Given the description of an element on the screen output the (x, y) to click on. 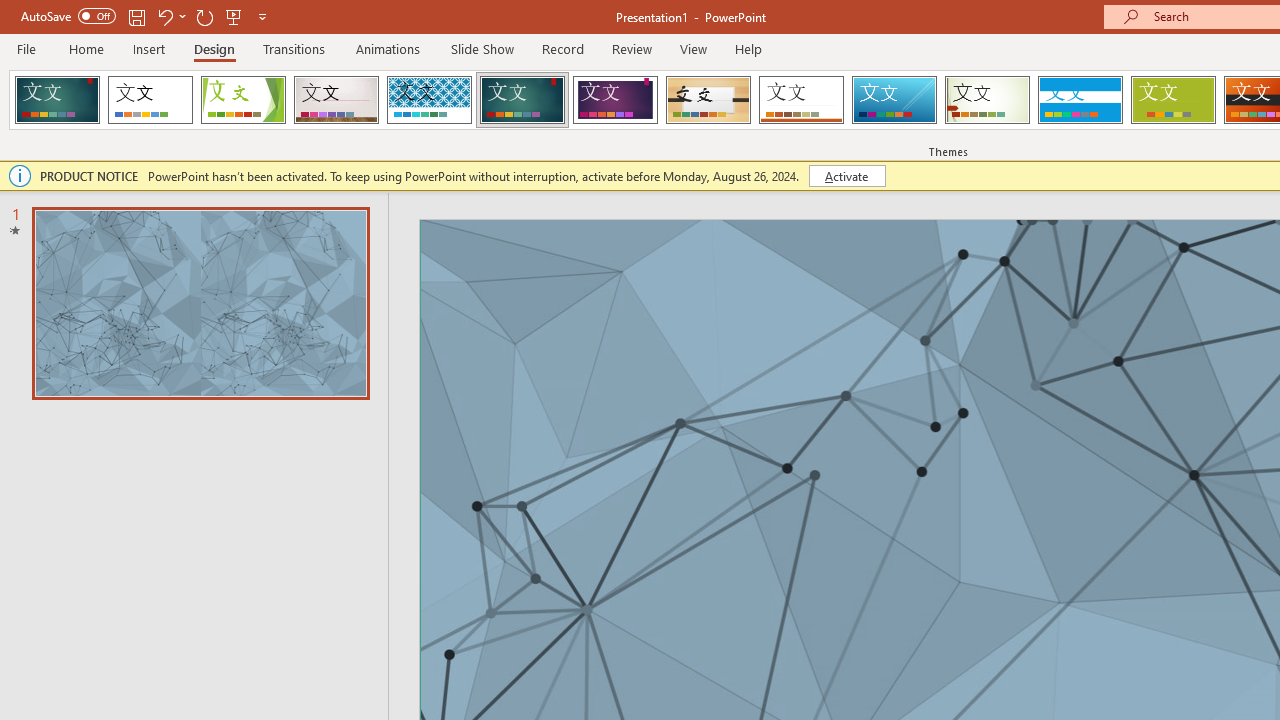
Slide (200, 303)
Save (136, 15)
Basis (1172, 100)
AutoSave (68, 16)
Home (86, 48)
Review (631, 48)
File Tab (26, 48)
Transitions (294, 48)
Wisp (987, 100)
Gallery (336, 100)
FadeVTI (57, 100)
Quick Access Toolbar (145, 16)
